Given the description of an element on the screen output the (x, y) to click on. 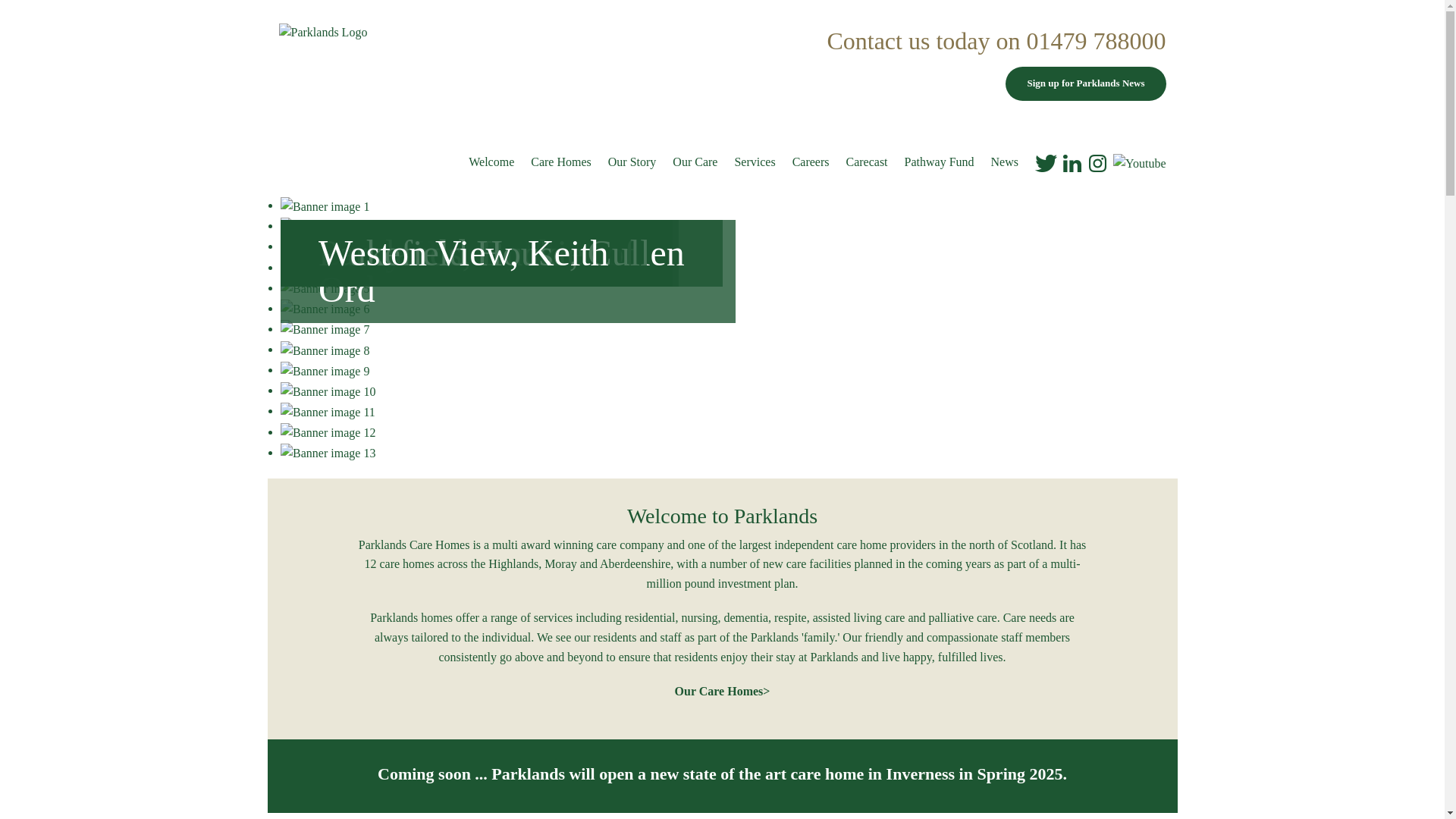
Our Story (632, 161)
Careers (810, 161)
Our Care (694, 161)
Carecast (865, 161)
Welcome (490, 161)
Care Homes (561, 161)
Care Homes (561, 161)
Our Story (632, 161)
News (1004, 161)
Careers (810, 161)
